Given the description of an element on the screen output the (x, y) to click on. 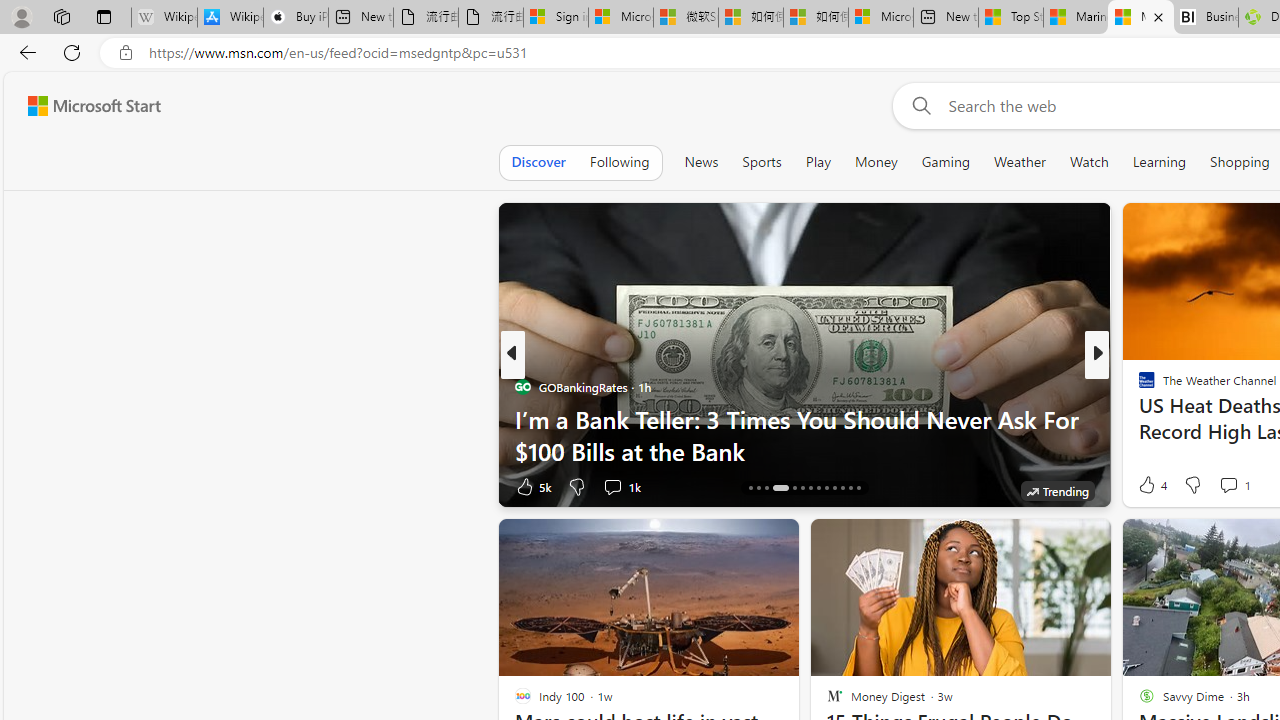
Money (875, 161)
Web search (917, 105)
BBC (1138, 386)
Sports (761, 162)
View comments 35 Comment (1234, 485)
View comments 53 Comment (1244, 486)
View comments 1 Comment (1228, 485)
AutomationID: tab-22 (825, 487)
View comments 11 Comment (1234, 485)
3 Like (1145, 486)
Money (876, 162)
View comments 339 Comment (1234, 485)
AutomationID: tab-24 (842, 487)
